Given the description of an element on the screen output the (x, y) to click on. 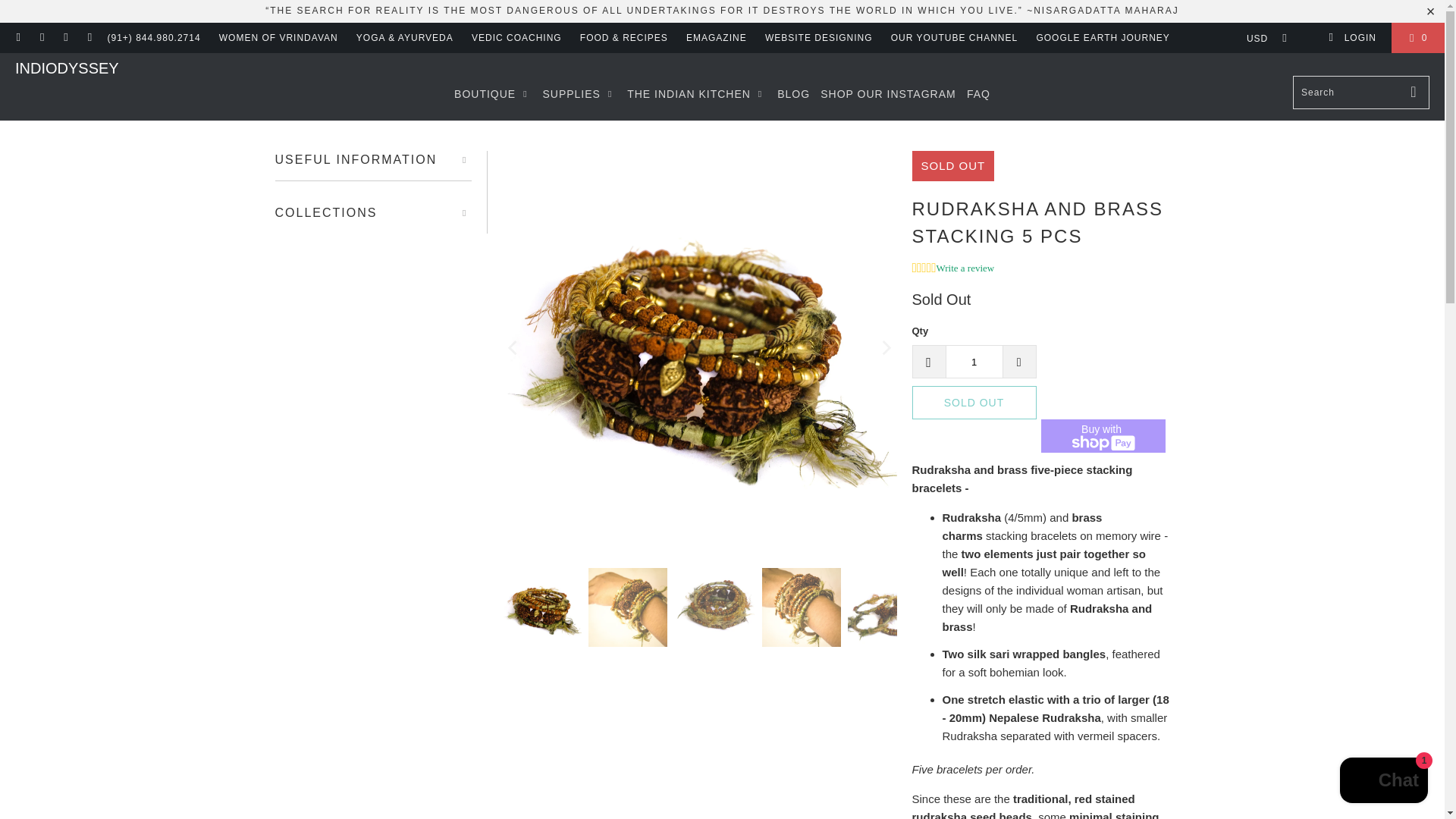
Indiodyssey on Instagram (65, 37)
Indiodyssey (66, 68)
Indiodyssey on Pinterest (41, 37)
Email Indiodyssey (89, 37)
Indiodyssey on YouTube (17, 37)
1 (973, 361)
My Account  (1351, 37)
